Given the description of an element on the screen output the (x, y) to click on. 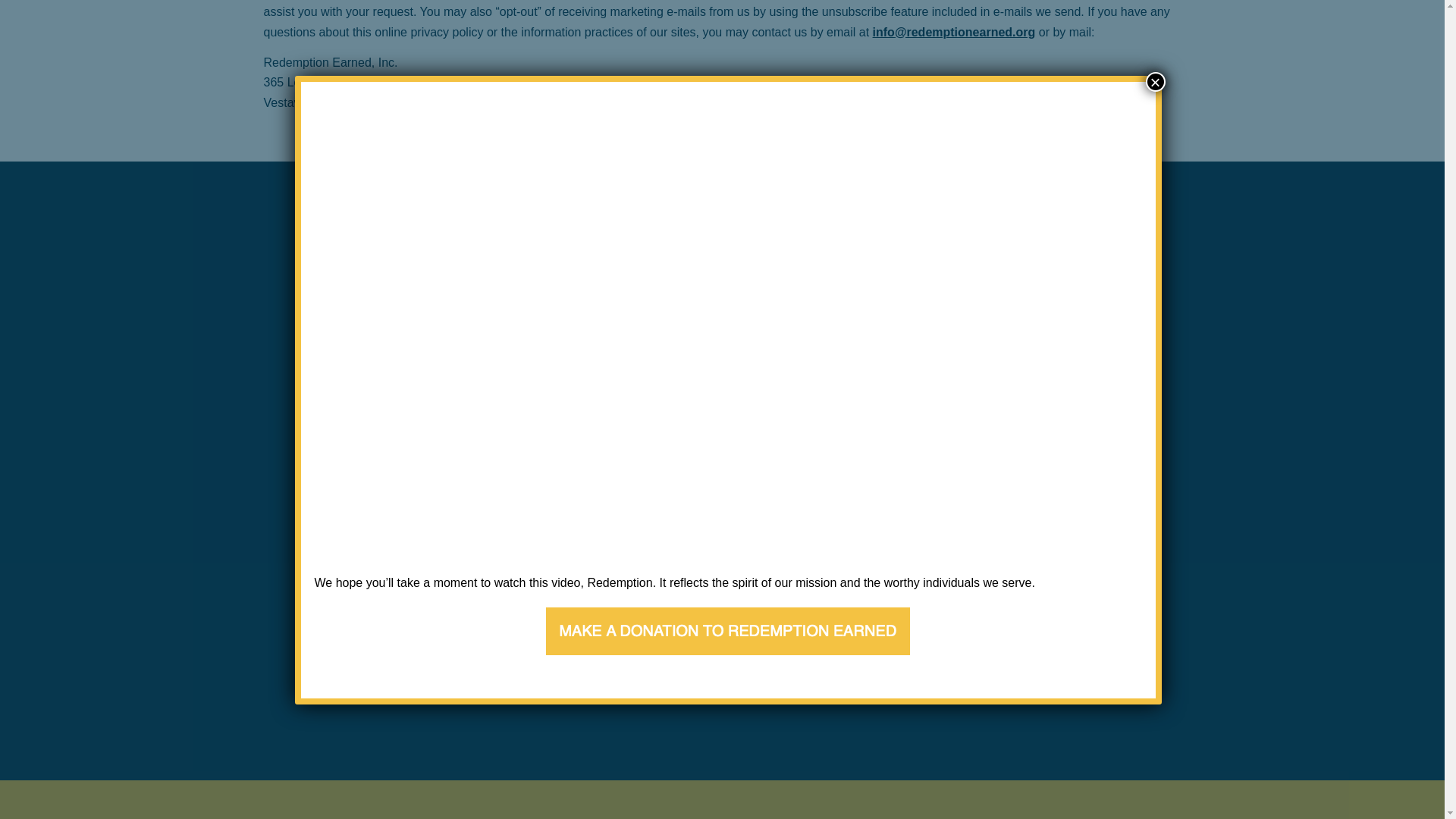
Sign up (1018, 717)
